Given the description of an element on the screen output the (x, y) to click on. 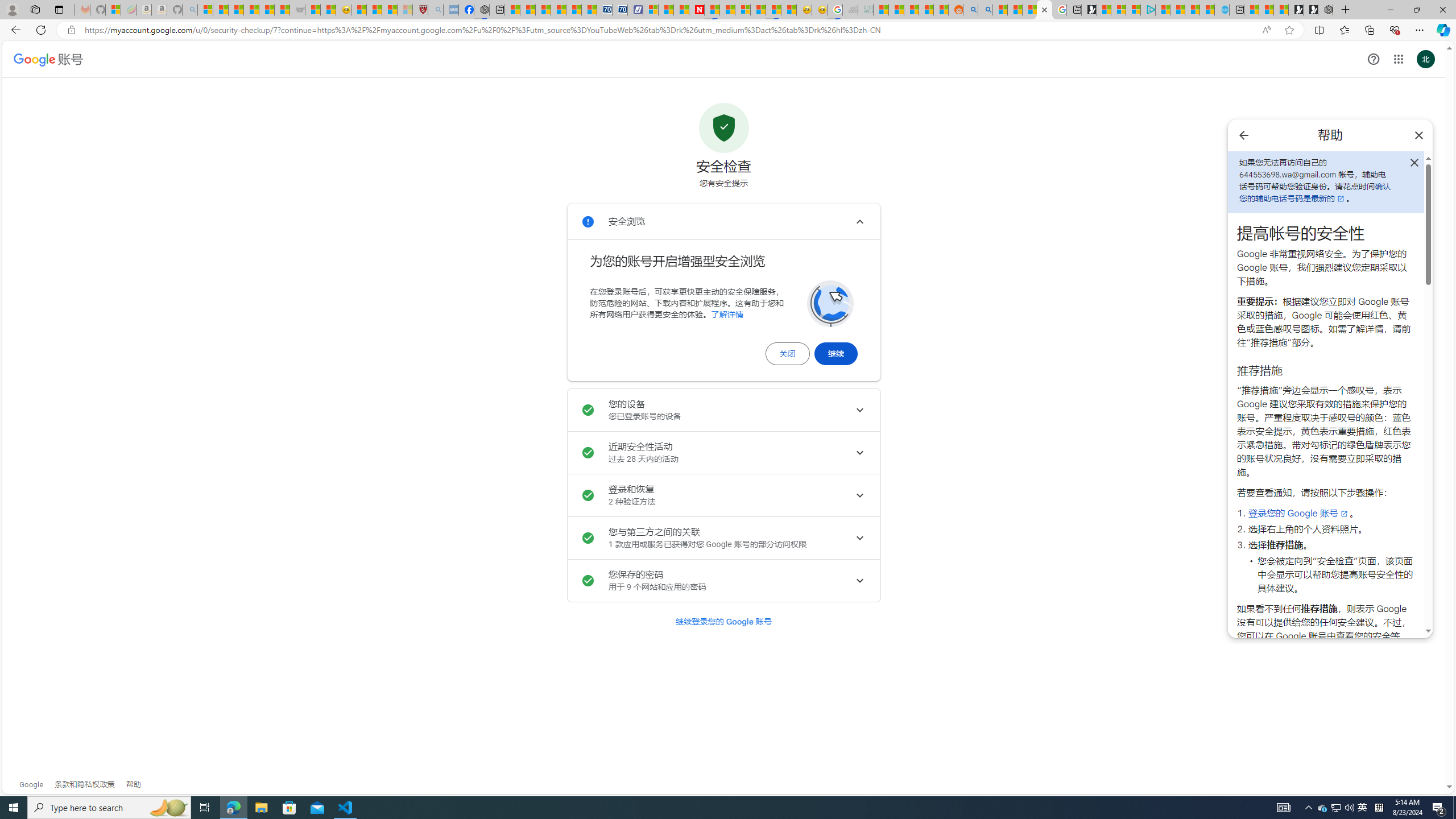
The Weather Channel - MSN (236, 9)
Student Loan Update: Forgiveness Program Ends This Month (926, 9)
Home | Sky Blue Bikes - Sky Blue Bikes (1221, 9)
Class: gb_E (1398, 59)
